Given the description of an element on the screen output the (x, y) to click on. 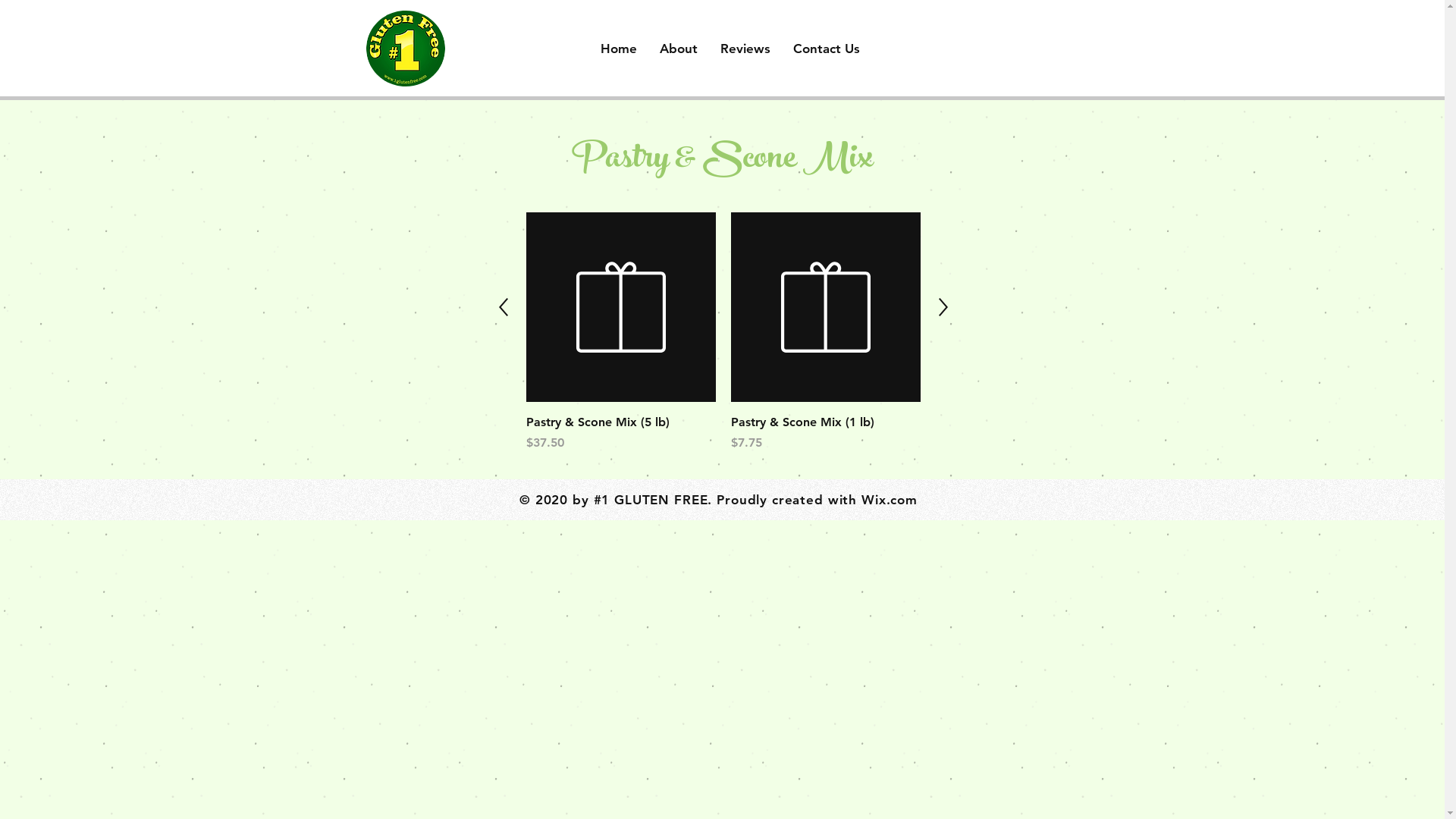
Wix.com Element type: text (889, 499)
Pastry & Scone Mix (5 lb)
Price
$37.50 Element type: text (620, 432)
Contact Us Element type: text (826, 48)
About Element type: text (678, 48)
Pastry & Scone Mix (1 lb)
Price
$7.75 Element type: text (825, 432)
Reviews Element type: text (745, 48)
Home Element type: text (618, 48)
